Given the description of an element on the screen output the (x, y) to click on. 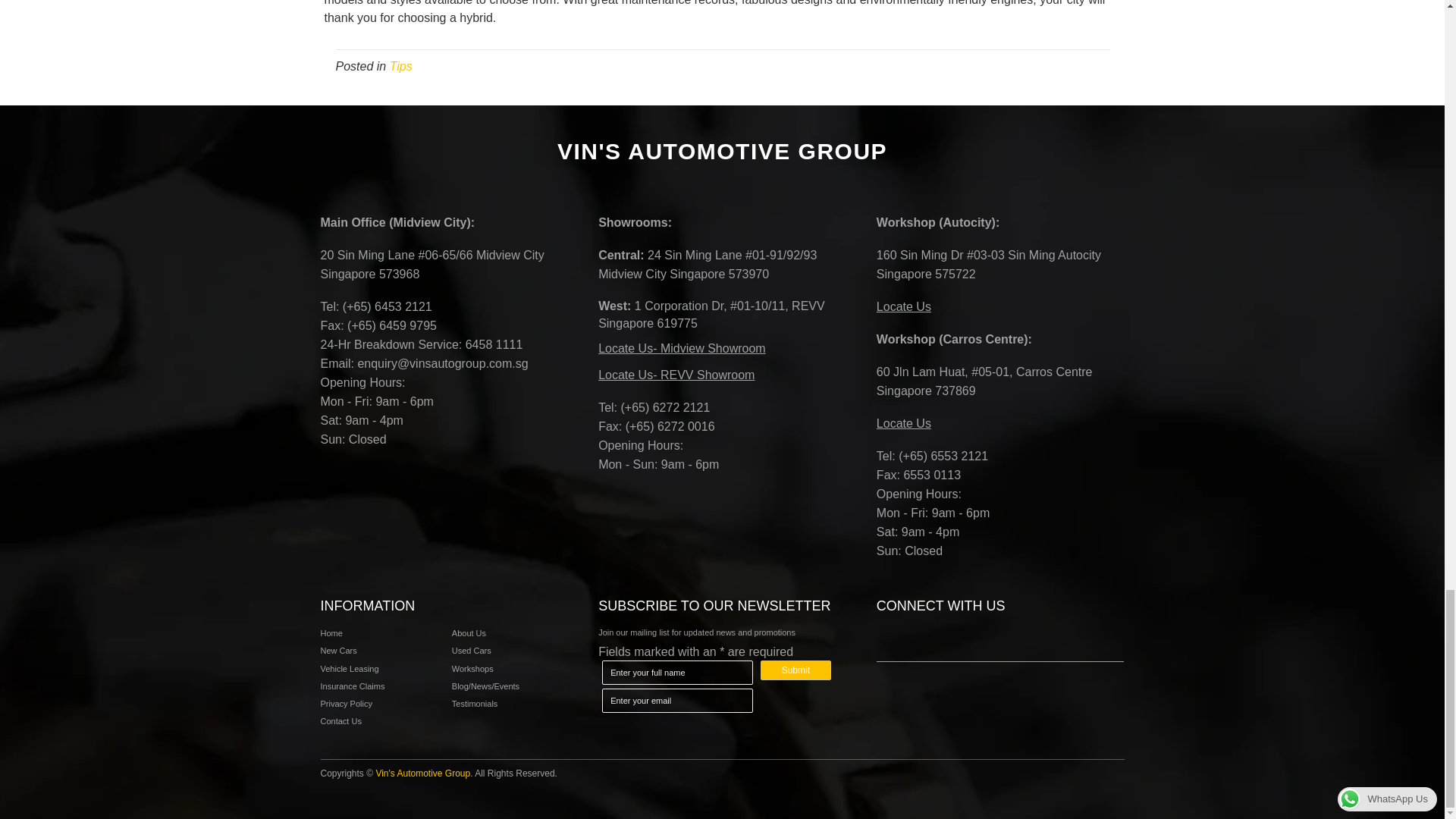
Submit (795, 670)
